Given the description of an element on the screen output the (x, y) to click on. 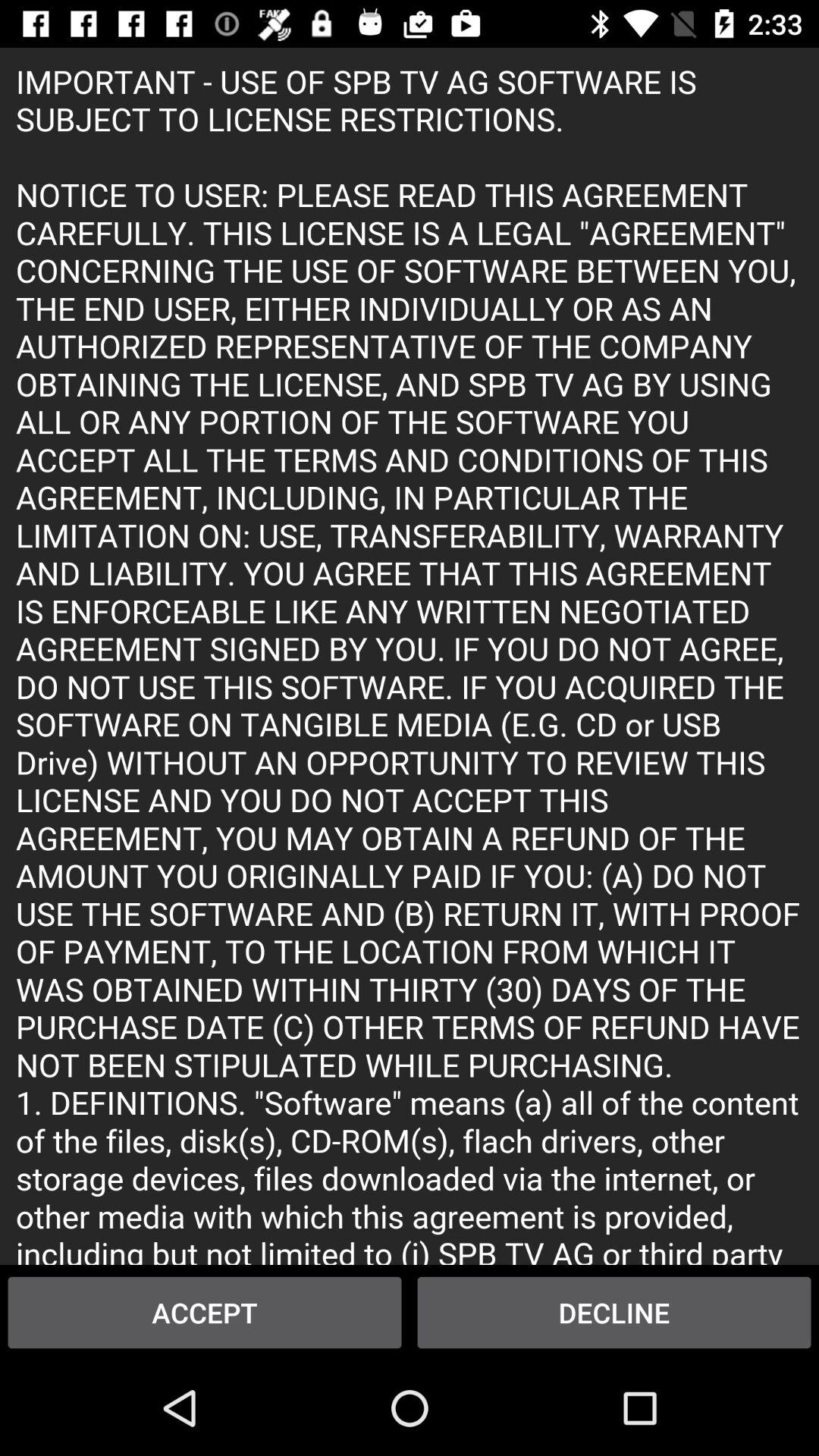
tap item at the bottom left corner (204, 1312)
